Given the description of an element on the screen output the (x, y) to click on. 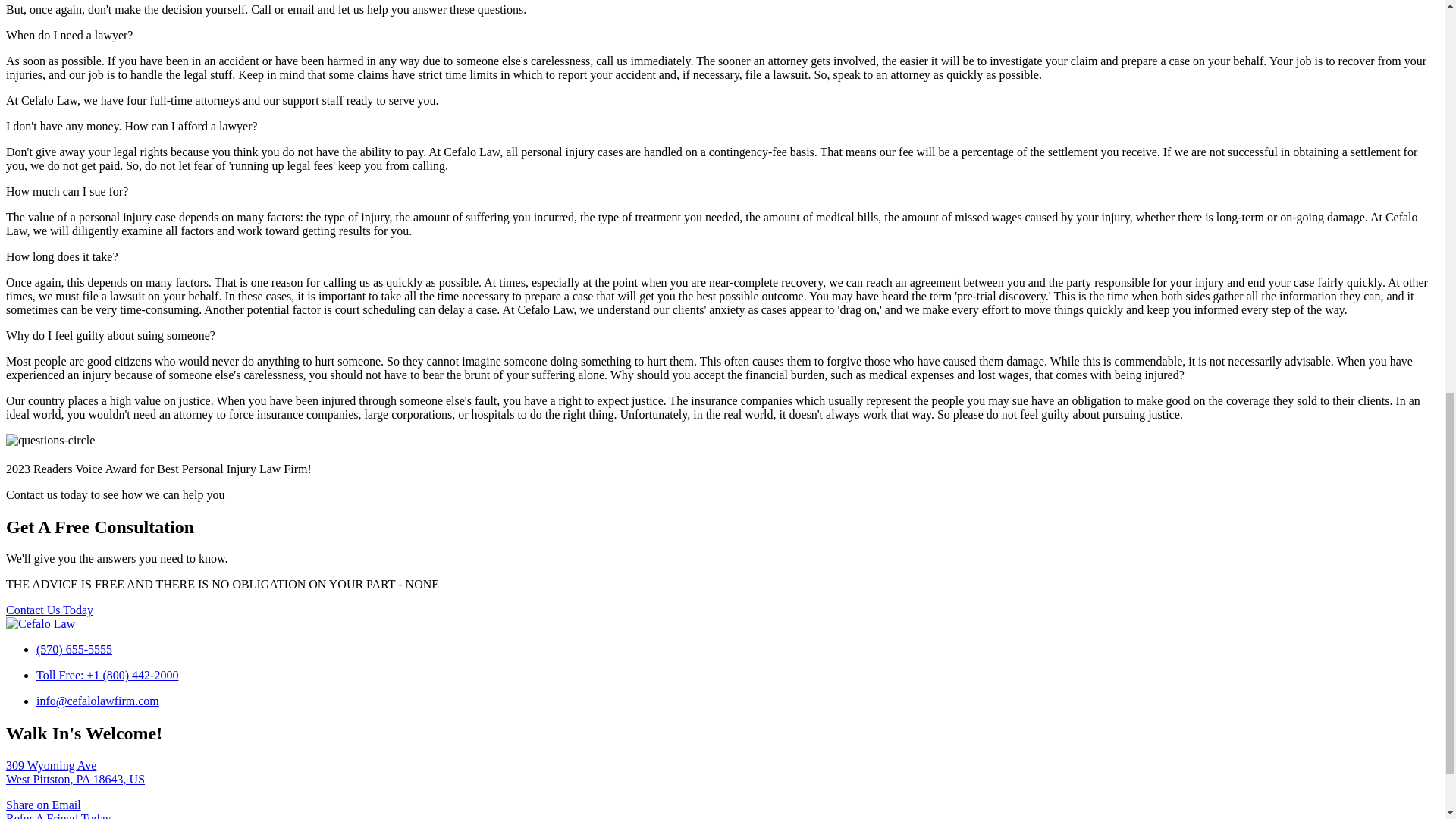
Cefalo Law Logo (40, 623)
questions-circle (49, 440)
Contact Us Today (49, 609)
